Given the description of an element on the screen output the (x, y) to click on. 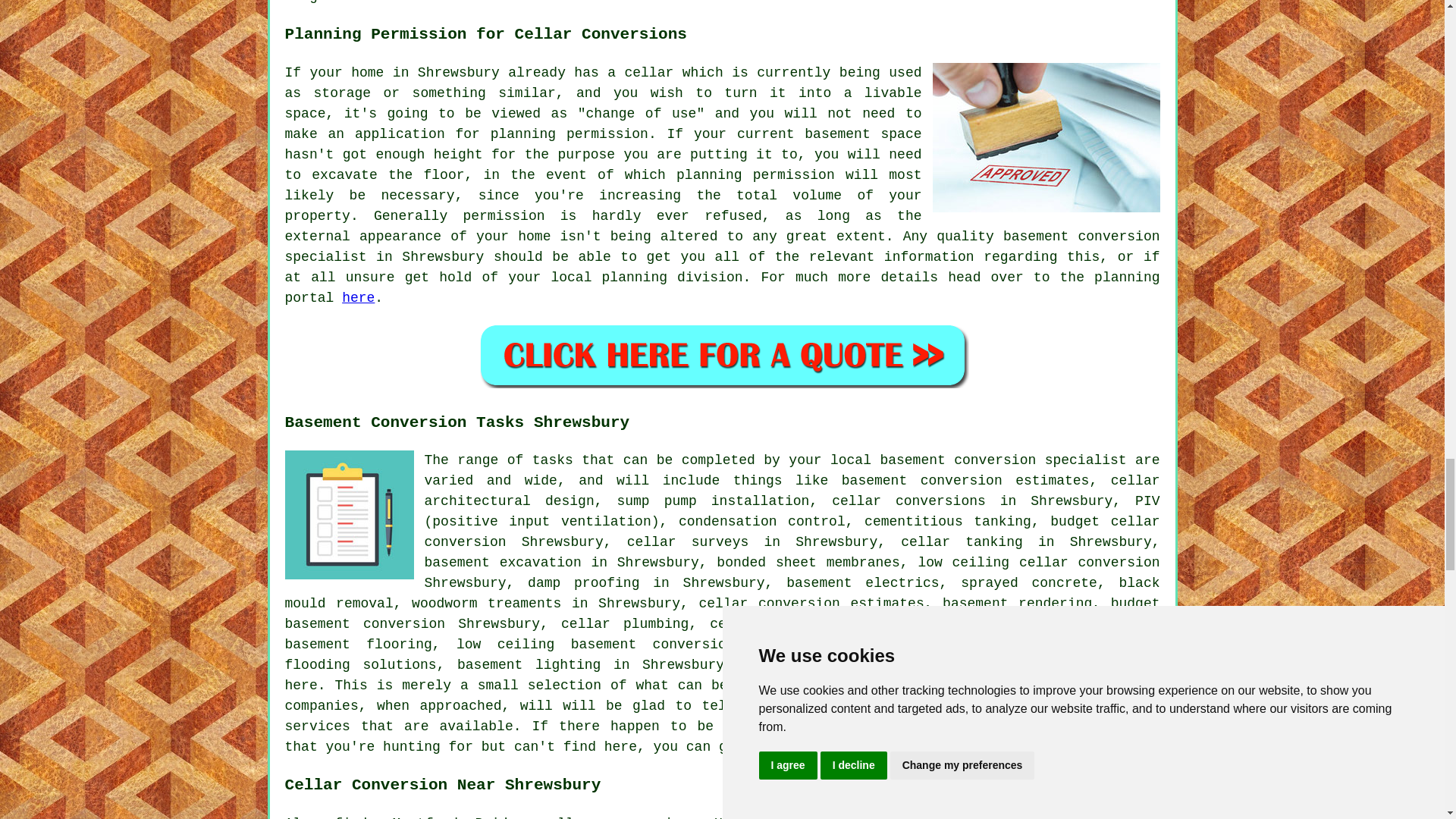
cellar tanking (962, 541)
Basement Conversion Tasks Shrewsbury (349, 514)
Cellar Conversion Planning Permission Shrewsbury Shropshire (1046, 137)
cellar conversion (979, 726)
Basement Conversion Quotes Shrewsbury (722, 355)
budget cellar conversion (792, 531)
low ceiling basement conversions (599, 644)
